Given the description of an element on the screen output the (x, y) to click on. 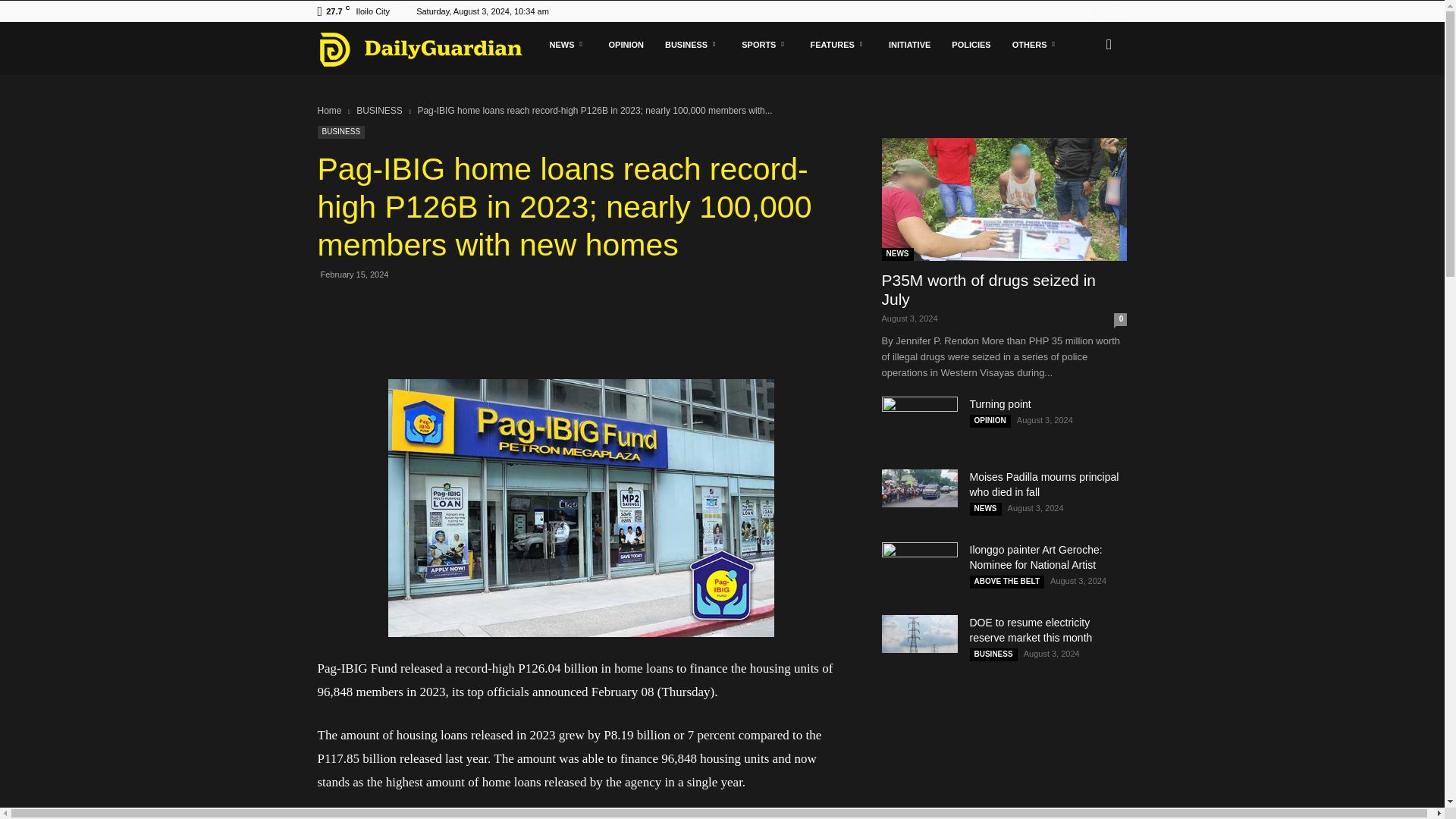
Facebook (1090, 11)
Daily Guardian (427, 48)
We write, you decide. (419, 48)
NEWS (567, 44)
Twitter (1114, 11)
